Given the description of an element on the screen output the (x, y) to click on. 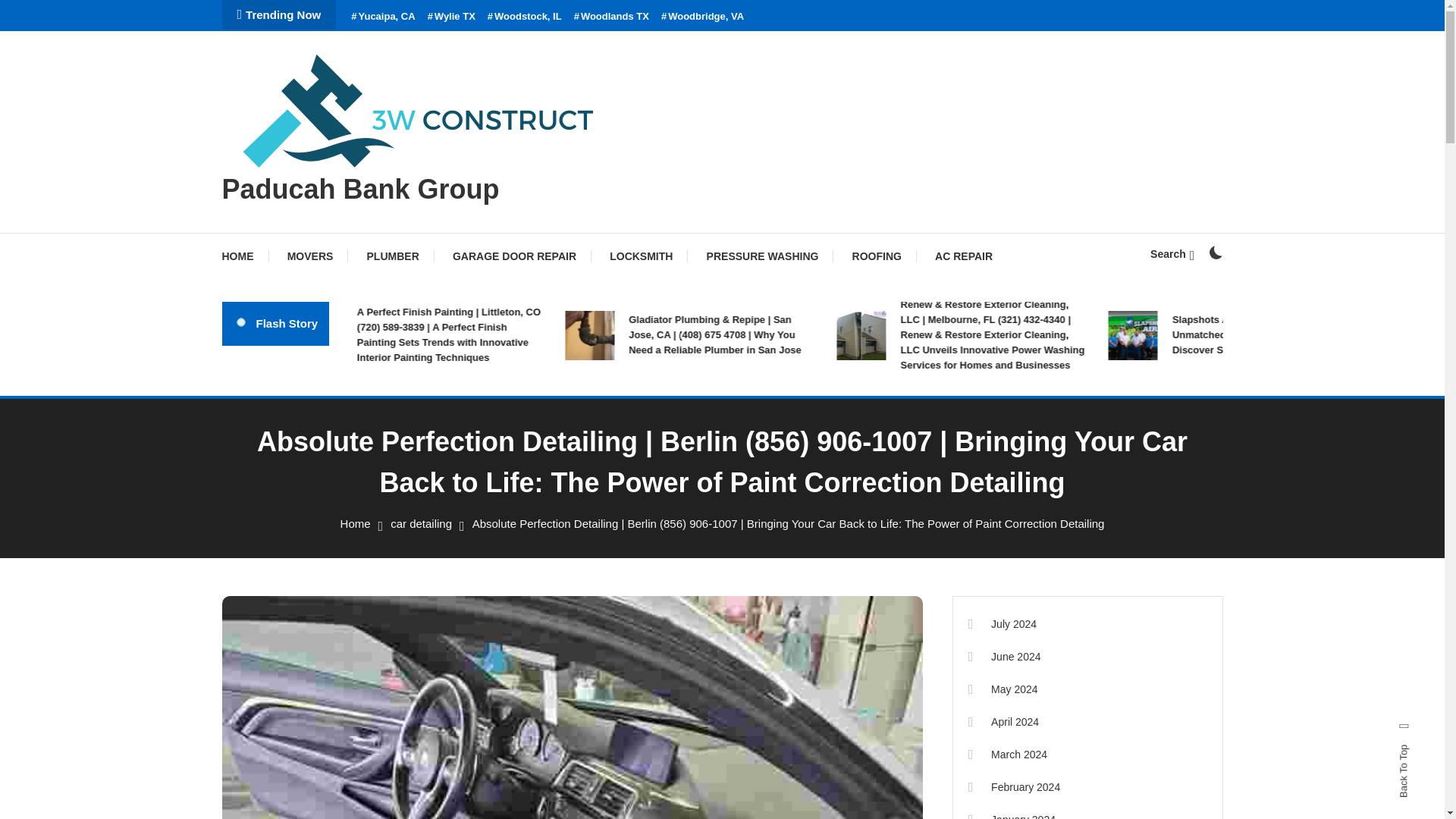
Woodlands TX (611, 16)
Search (768, 434)
HOME (244, 256)
PLUMBER (392, 256)
Wylie TX (452, 16)
Paducah Bank Group (360, 188)
Woodstock, IL (524, 16)
GARAGE DOOR REPAIR (514, 256)
AC REPAIR (963, 256)
MOVERS (310, 256)
Search (1171, 254)
PRESSURE WASHING (762, 256)
LOCKSMITH (640, 256)
Woodbridge, VA (702, 16)
Yucaipa, CA (382, 16)
